Given the description of an element on the screen output the (x, y) to click on. 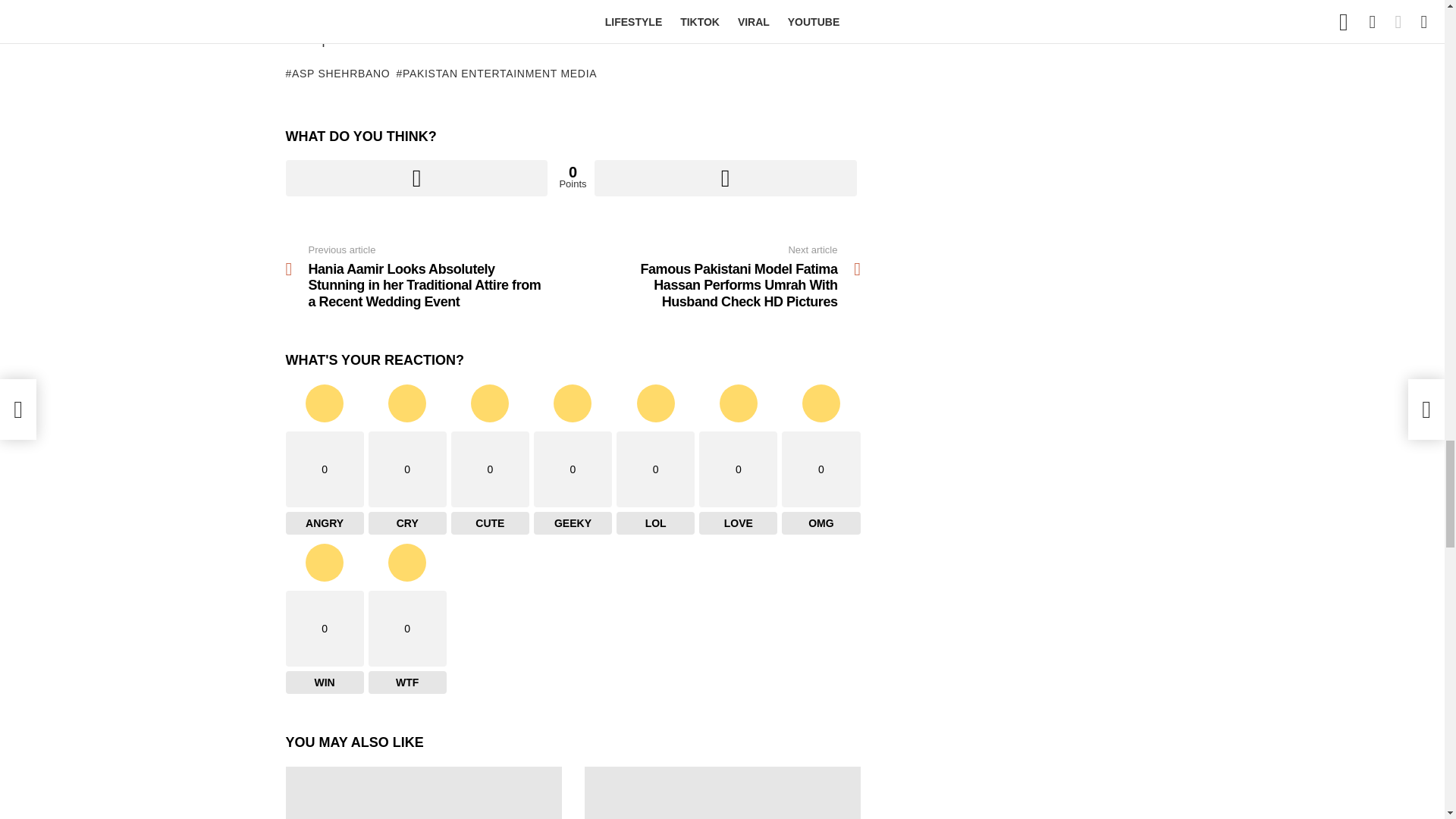
Upvote (416, 177)
Downvote (725, 177)
Upvote (416, 177)
PAKISTAN ENTERTAINMENT MEDIA (496, 73)
ASP SHEHRBANO (337, 73)
Downvote (725, 177)
